Given the description of an element on the screen output the (x, y) to click on. 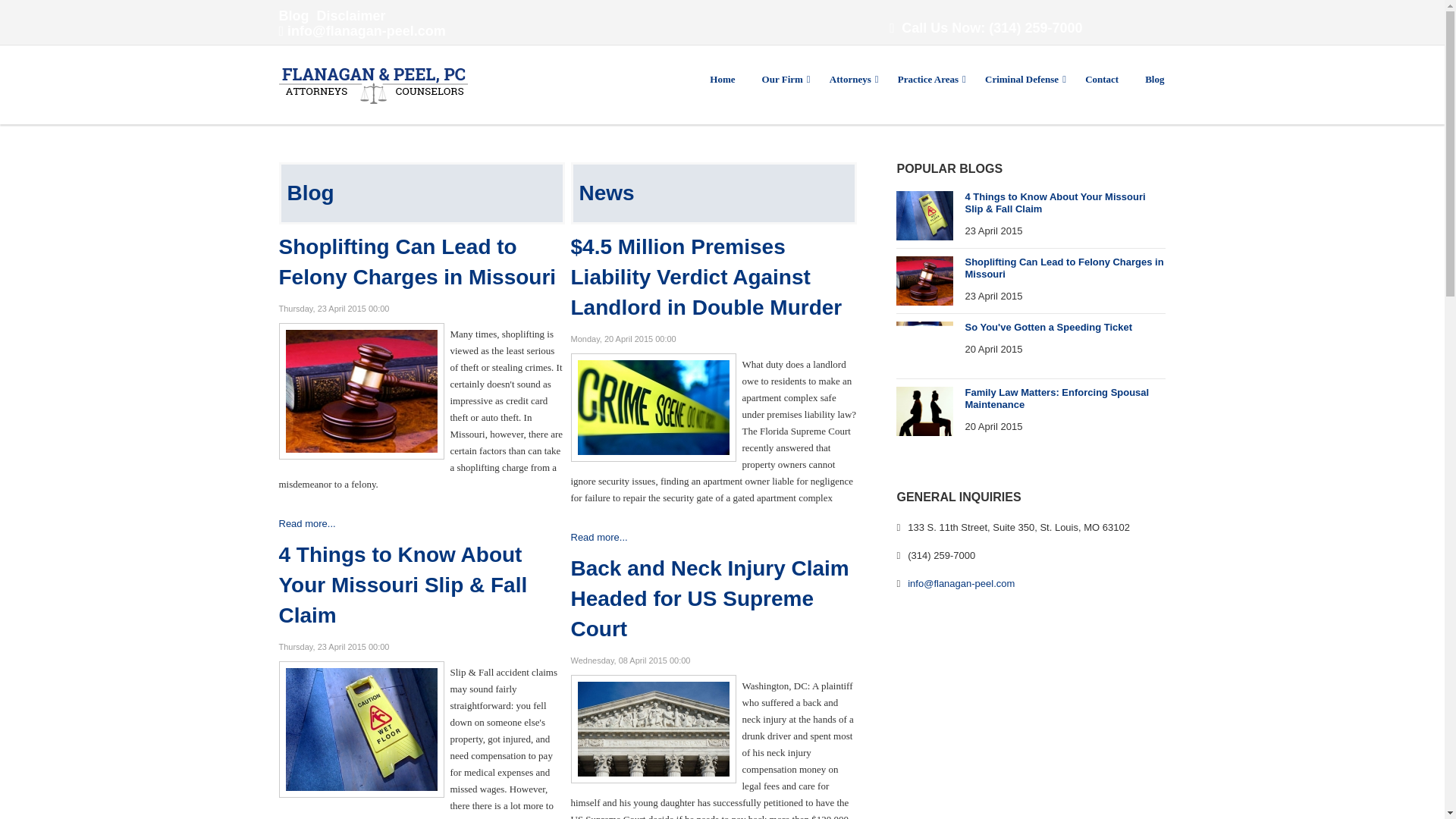
Practice Areas (927, 79)
Home (721, 79)
Our Firm (782, 79)
Shoplifting Can Lead to Felony Charges in Missouri (361, 389)
Back and Neck Injury Claim Headed for US Supreme Court (652, 727)
Blog (293, 15)
Continue reading "So You've Gotten a Speeding Ticket" (929, 346)
Disclaimer (351, 15)
Attorneys (850, 79)
